Given the description of an element on the screen output the (x, y) to click on. 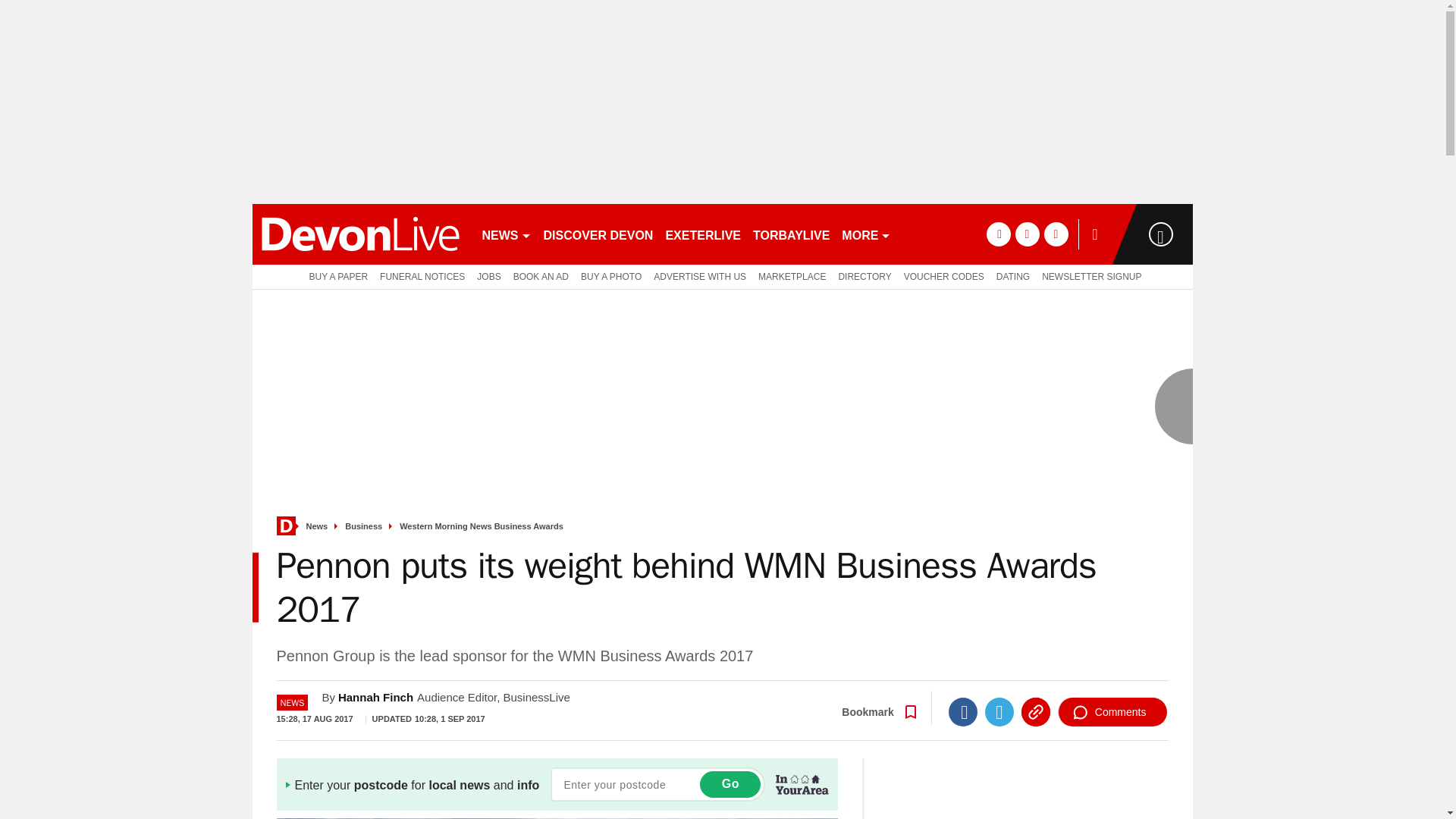
EXETERLIVE (702, 233)
MORE (865, 233)
TORBAYLIVE (790, 233)
Comments (1112, 711)
DISCOVER DEVON (598, 233)
Twitter (999, 711)
instagram (1055, 233)
devonlive (359, 233)
twitter (1026, 233)
Facebook (962, 711)
facebook (997, 233)
Go (730, 784)
NEWS (506, 233)
